Given the description of an element on the screen output the (x, y) to click on. 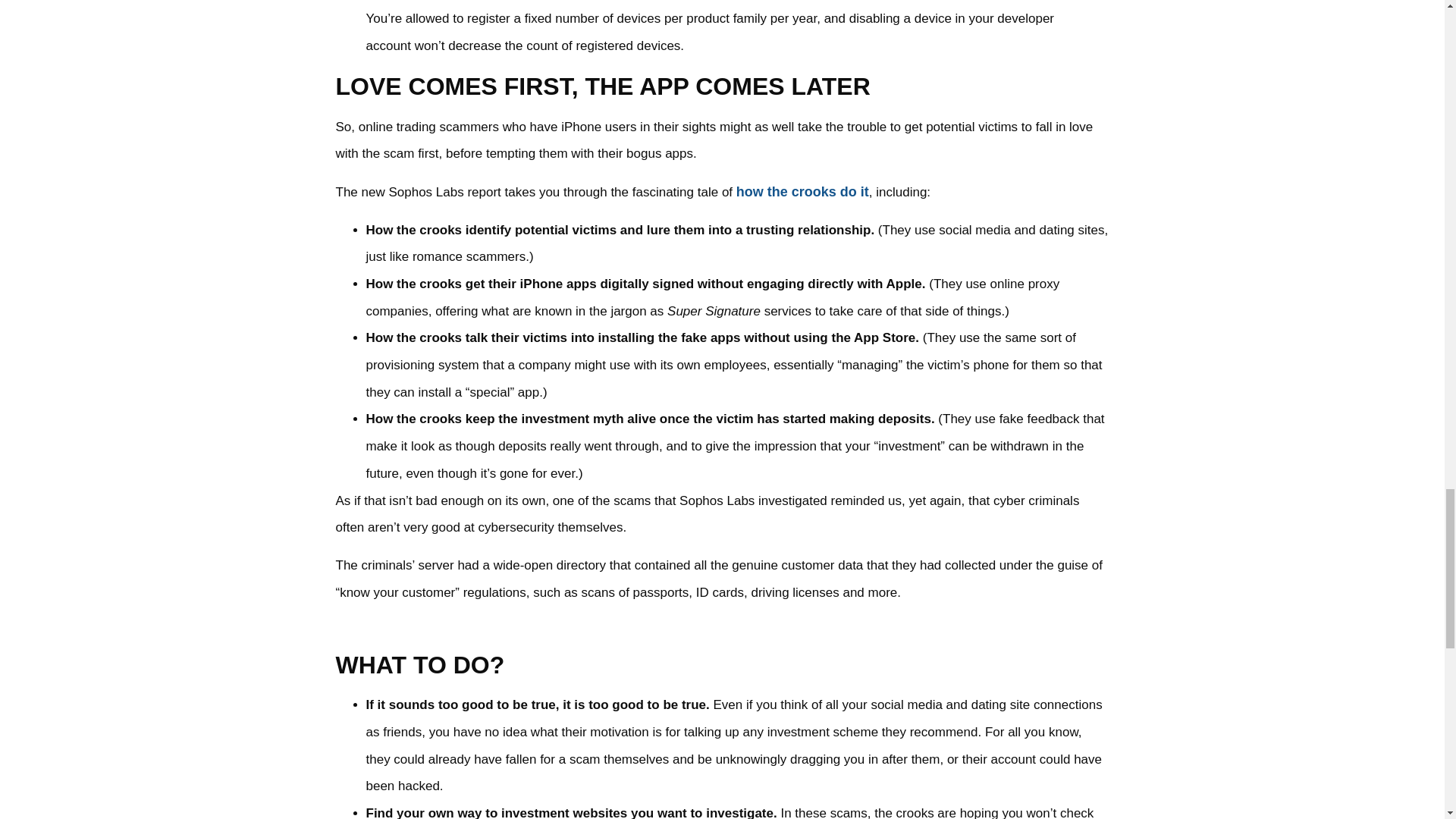
how the crooks do it (802, 191)
